Given the description of an element on the screen output the (x, y) to click on. 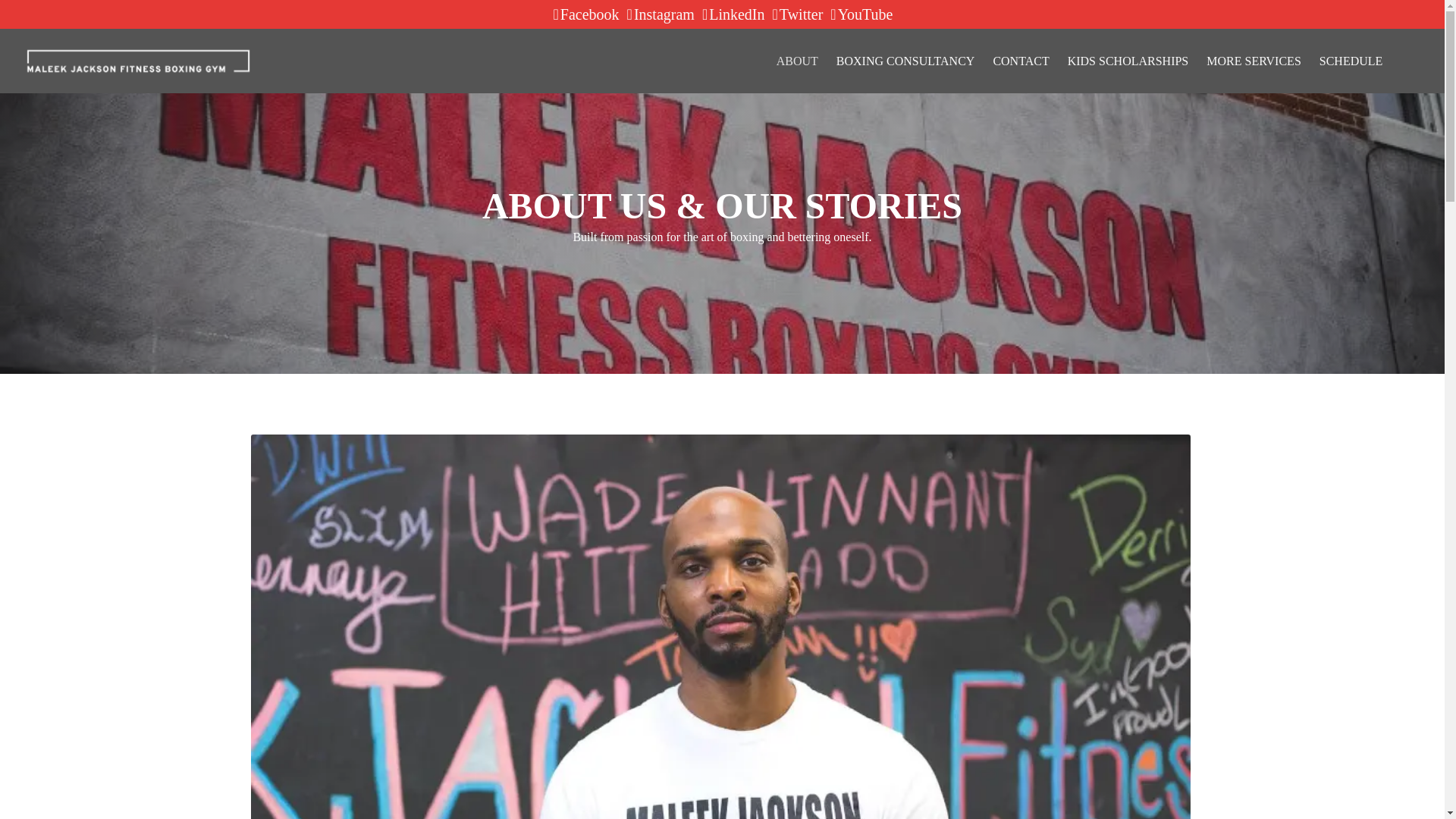
Facebook (585, 13)
MORE SERVICES (1253, 60)
YouTube (860, 13)
KIDS SCHOLARSHIPS (1128, 60)
LinkedIn (732, 13)
Twitter (797, 13)
SCHEDULE (1351, 60)
Instagram (660, 13)
BOXING CONSULTANCY (905, 60)
CONTACT (1020, 60)
ABOUT (797, 60)
